Given the description of an element on the screen output the (x, y) to click on. 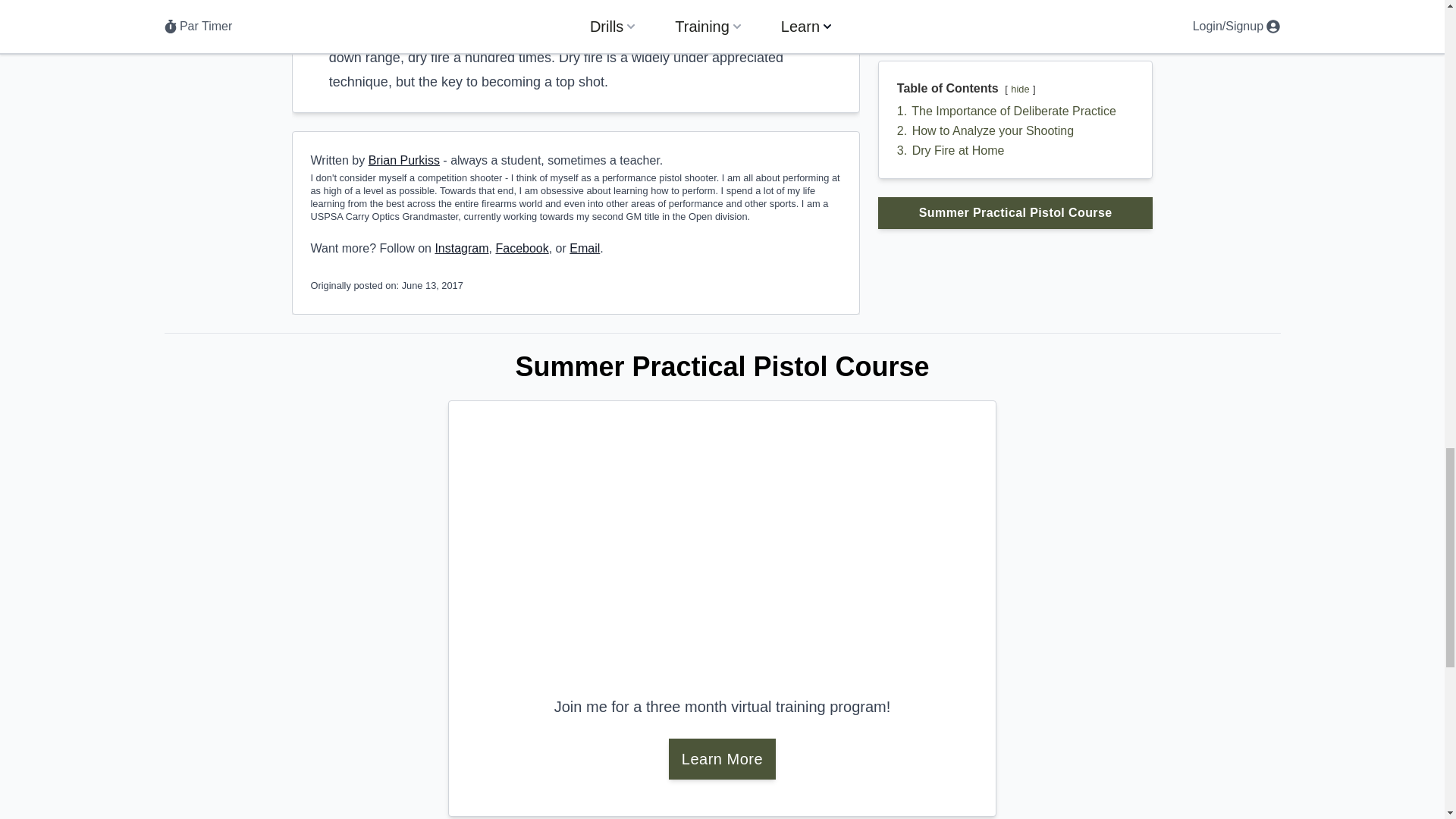
Facebook (521, 247)
Brian Purkiss (403, 160)
Instagram (460, 247)
Practical Pistol Course (721, 555)
Email (584, 247)
Learn More (722, 758)
